Given the description of an element on the screen output the (x, y) to click on. 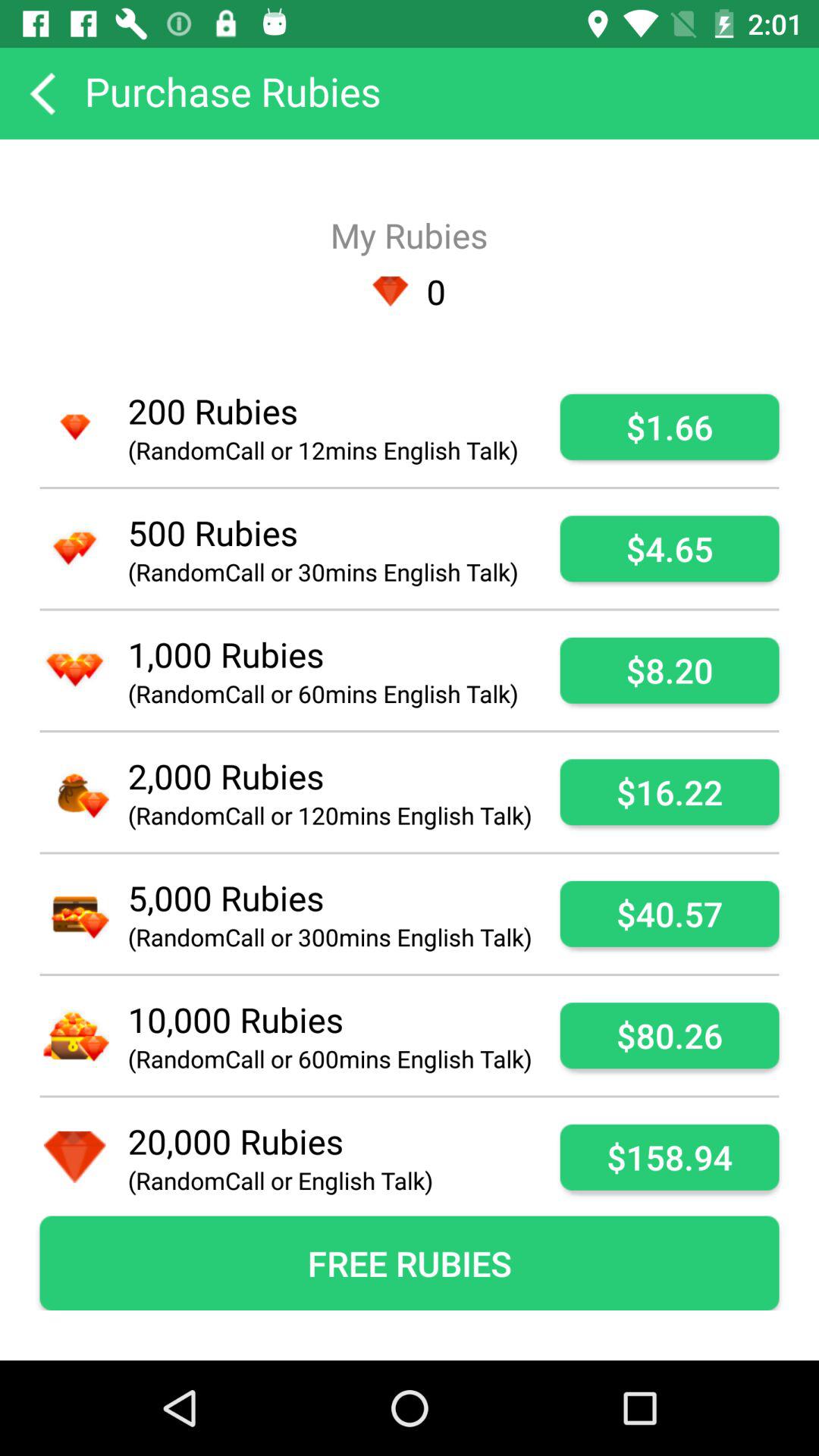
launch icon to the right of randomcall or 30mins app (669, 548)
